Given the description of an element on the screen output the (x, y) to click on. 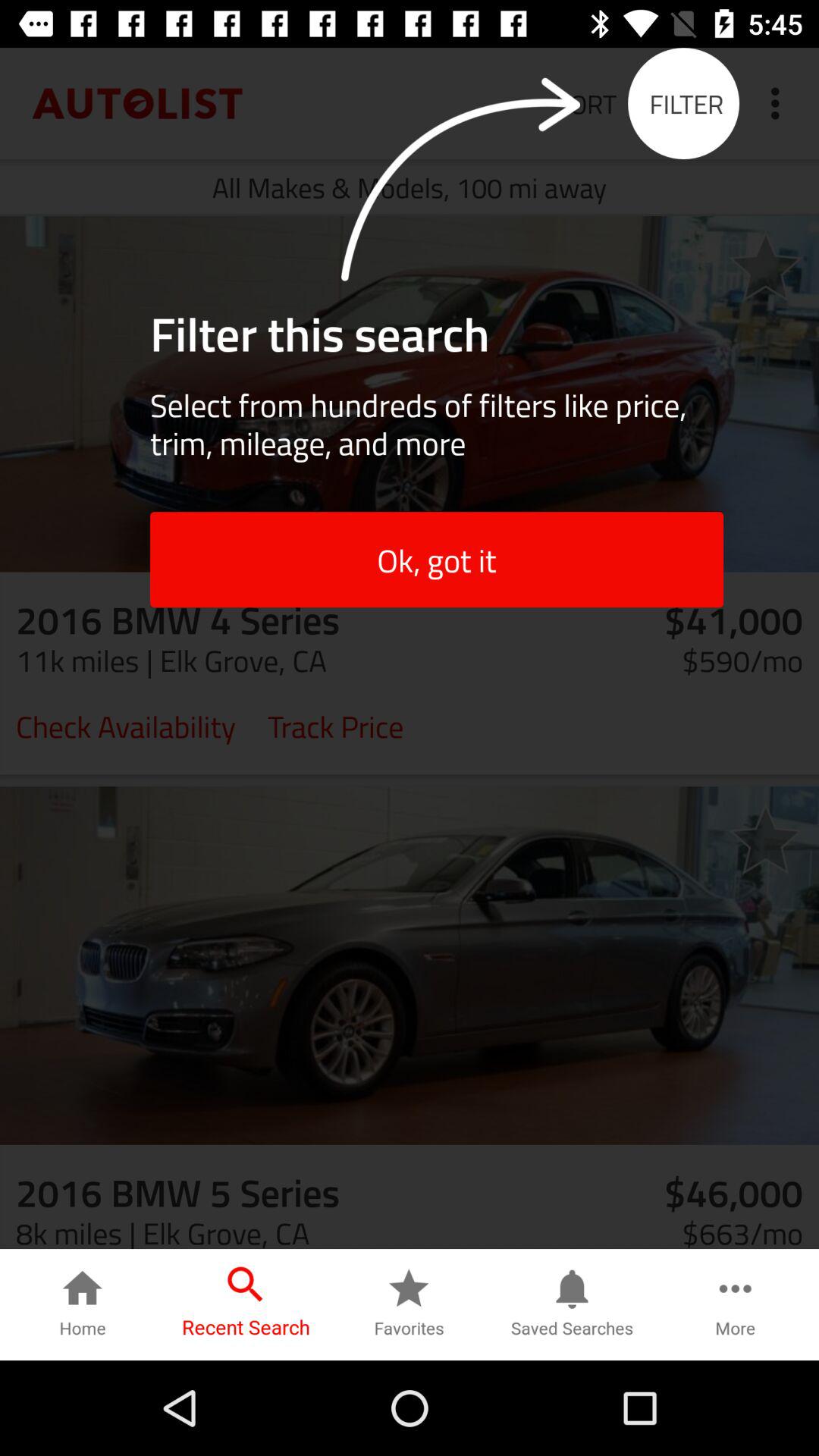
tap the item to the left of the filter item (585, 103)
